Given the description of an element on the screen output the (x, y) to click on. 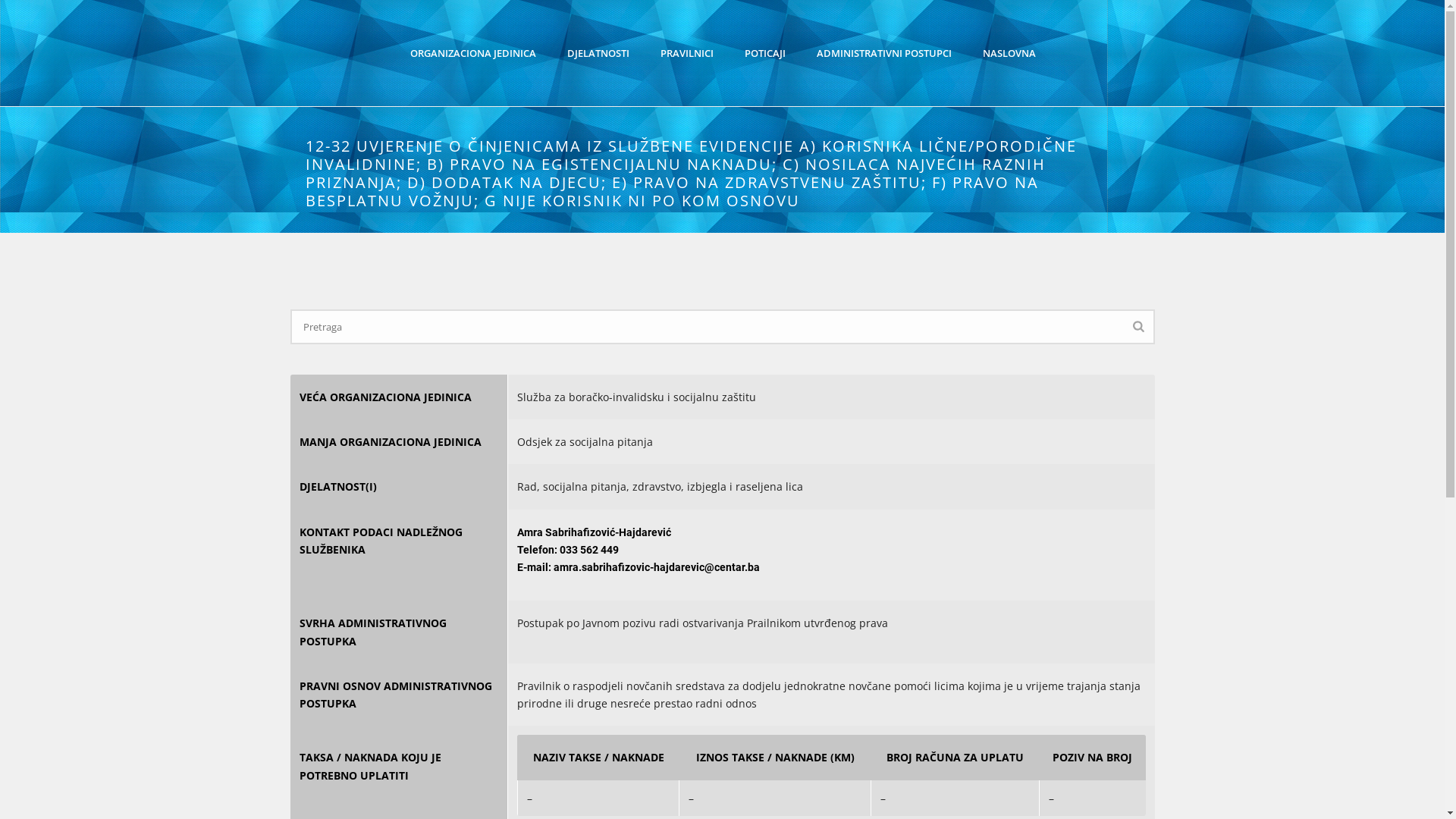
POTICAJI Element type: text (764, 53)
NASLOVNA Element type: text (1009, 53)
PRAVILNICI Element type: text (686, 53)
ORGANIZACIONA JEDINICA Element type: text (472, 53)
DJELATNOSTI Element type: text (598, 53)
ADMINISTRATIVNI POSTUPCI Element type: text (883, 53)
